Given the description of an element on the screen output the (x, y) to click on. 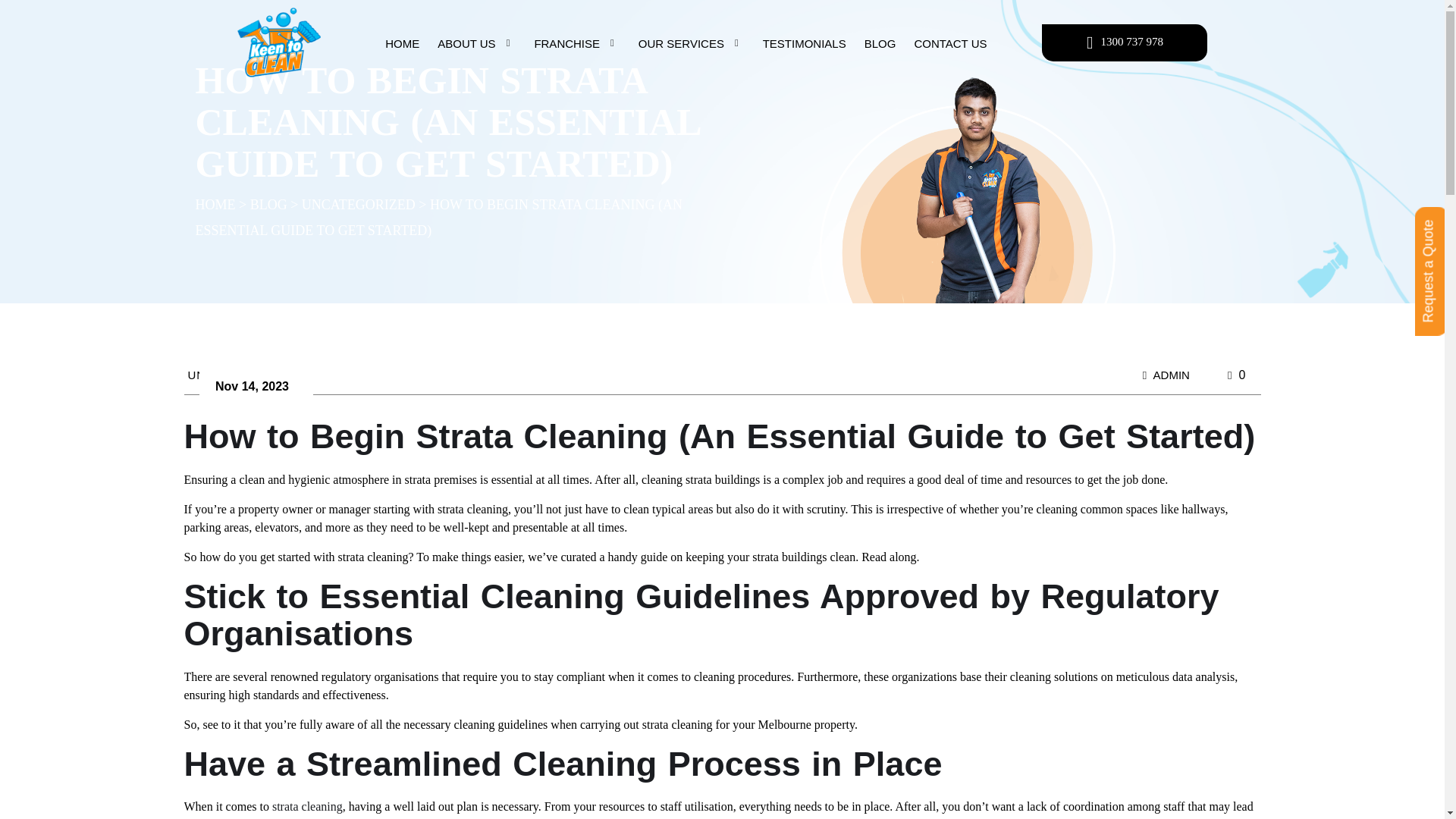
Go to the Uncategorized Category archives. (357, 204)
ABOUT US (476, 43)
FRANCHISE (576, 43)
HOME (402, 43)
Go to Keen to Clean. (215, 204)
OUR SERVICES (691, 43)
Go to Blog. (268, 204)
